Given the description of an element on the screen output the (x, y) to click on. 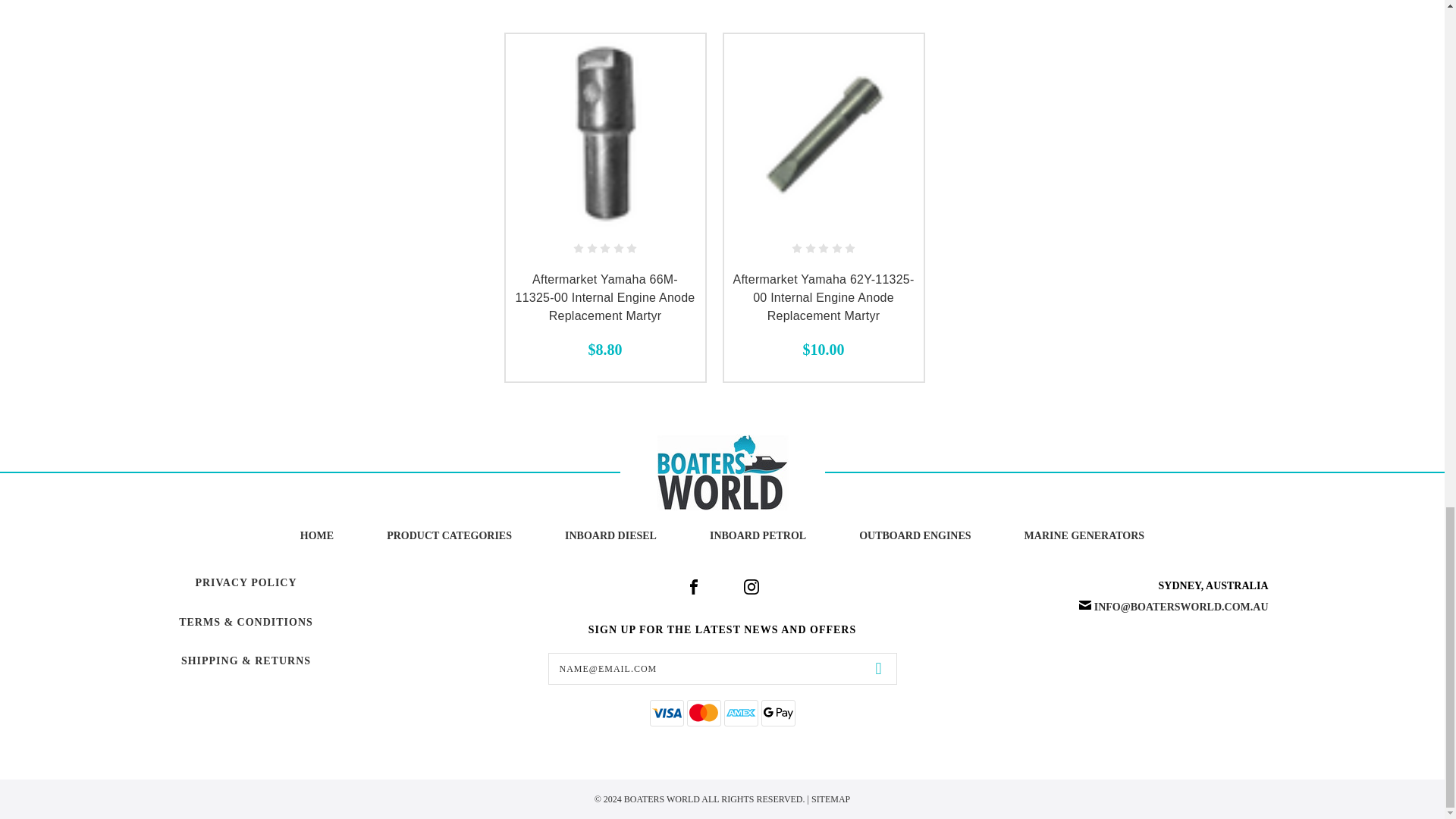
Boaters World (722, 472)
